Given the description of an element on the screen output the (x, y) to click on. 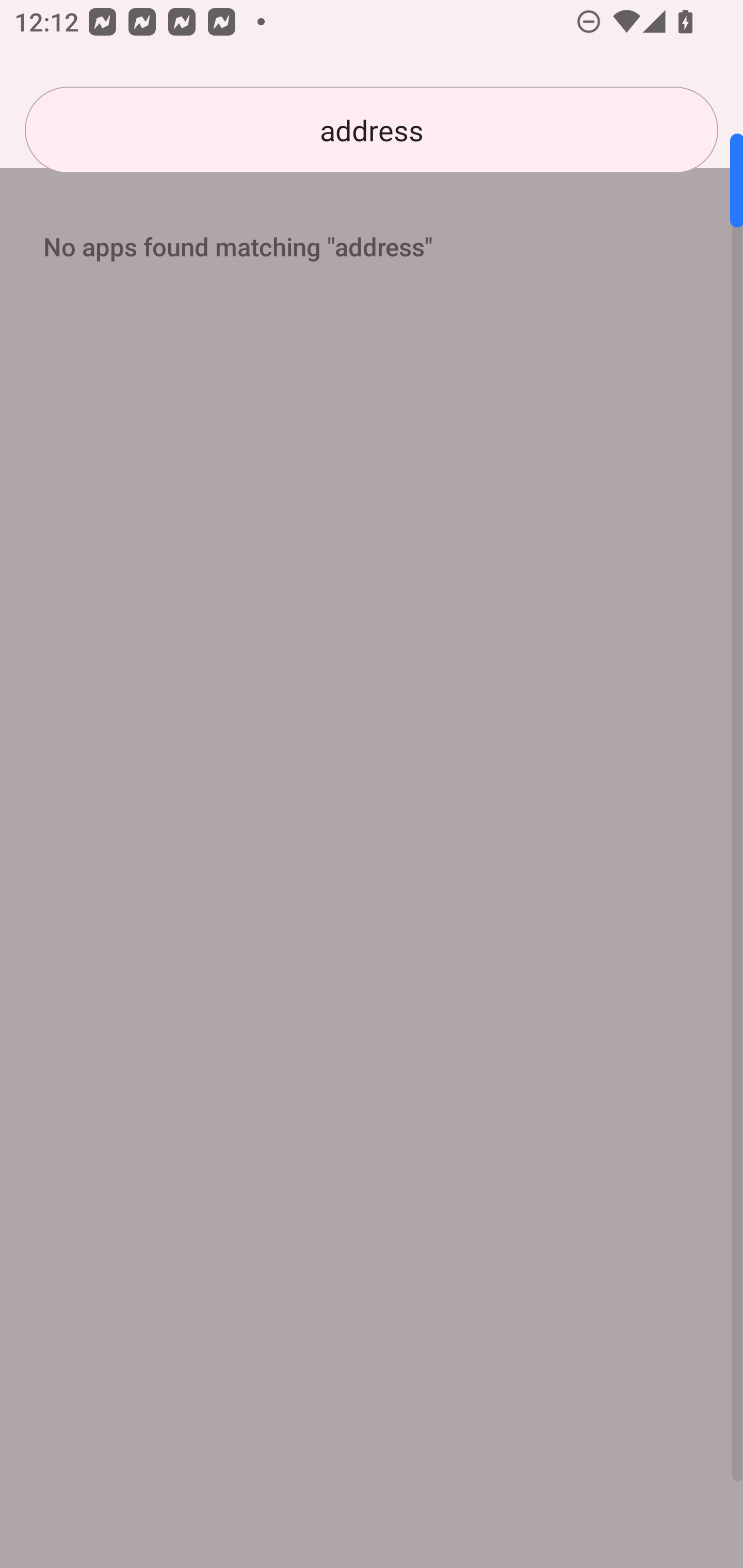
address (371, 130)
